Given the description of an element on the screen output the (x, y) to click on. 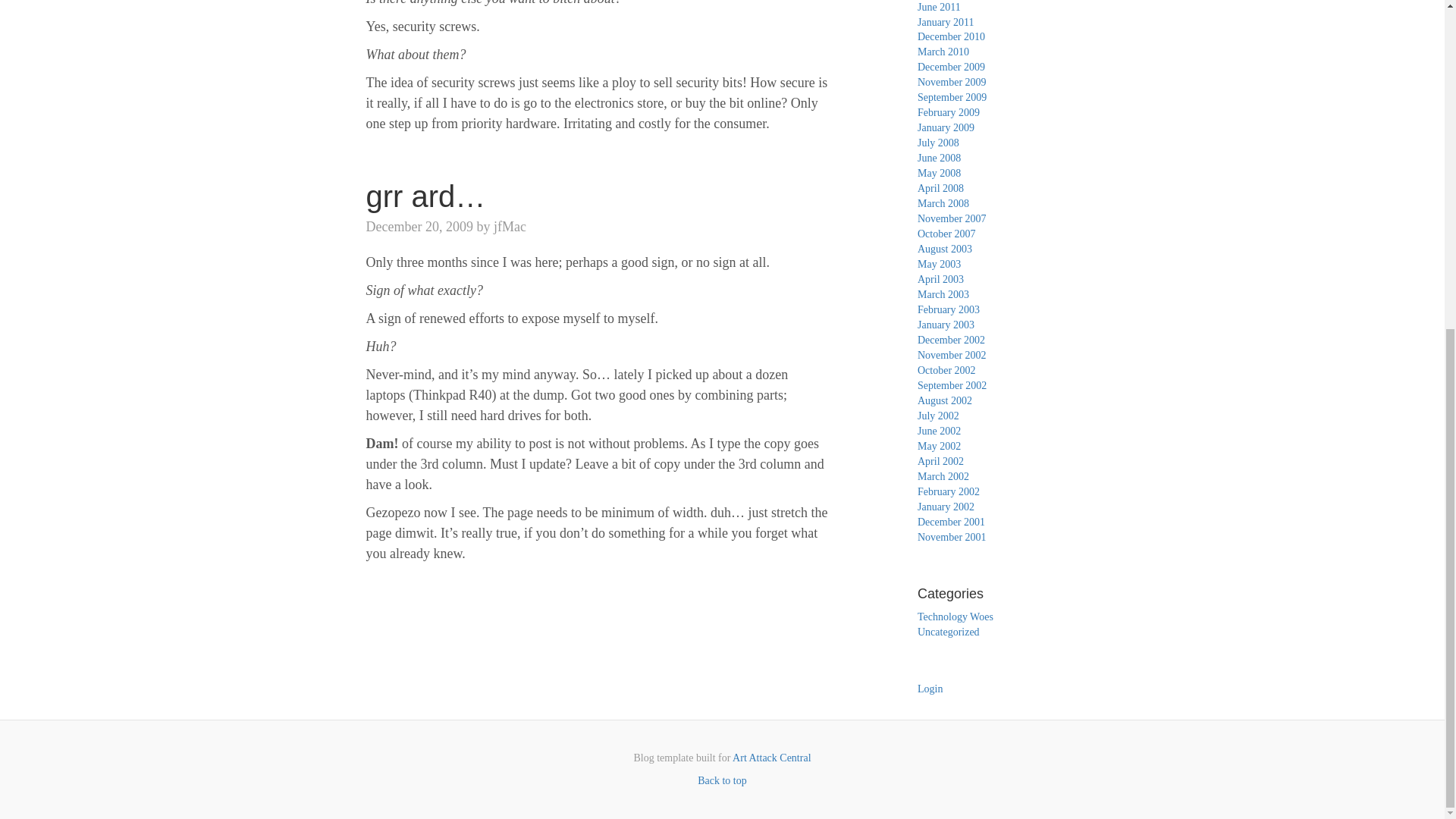
January 2003 (945, 324)
January 2011 (945, 21)
December 2009 (951, 66)
December 2002 (951, 339)
May 2008 (938, 173)
July 2008 (938, 142)
February 2009 (948, 112)
March 2010 (943, 51)
January 2009 (945, 127)
November 2002 (952, 355)
